Given the description of an element on the screen output the (x, y) to click on. 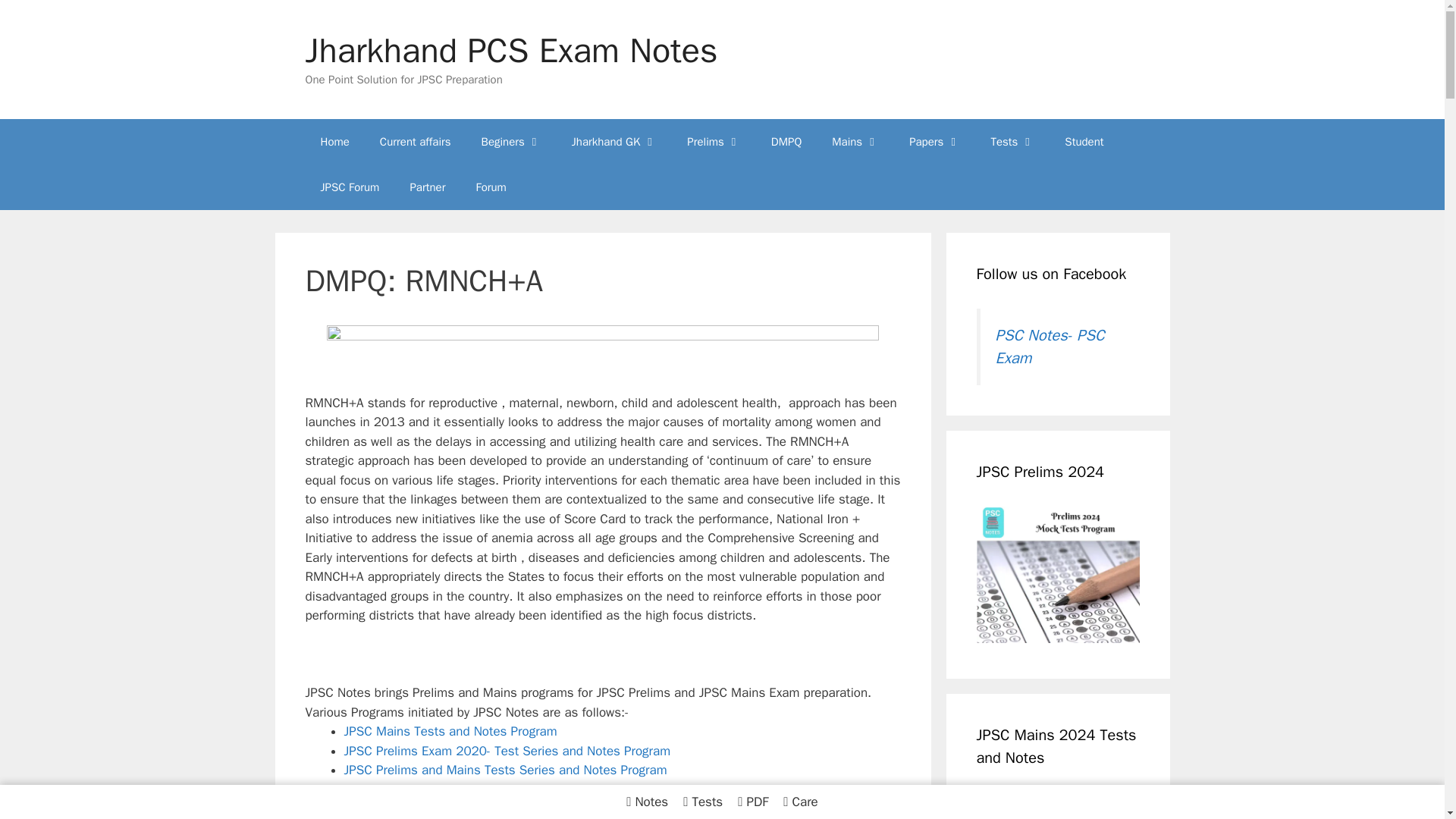
Student (1083, 140)
Forum (490, 186)
JPSC Forum (349, 186)
Papers (934, 140)
Home (334, 140)
Jharkhand PCS Exam Notes (510, 50)
Beginers (510, 140)
DMPQ (785, 140)
Prelims (713, 140)
